Given the description of an element on the screen output the (x, y) to click on. 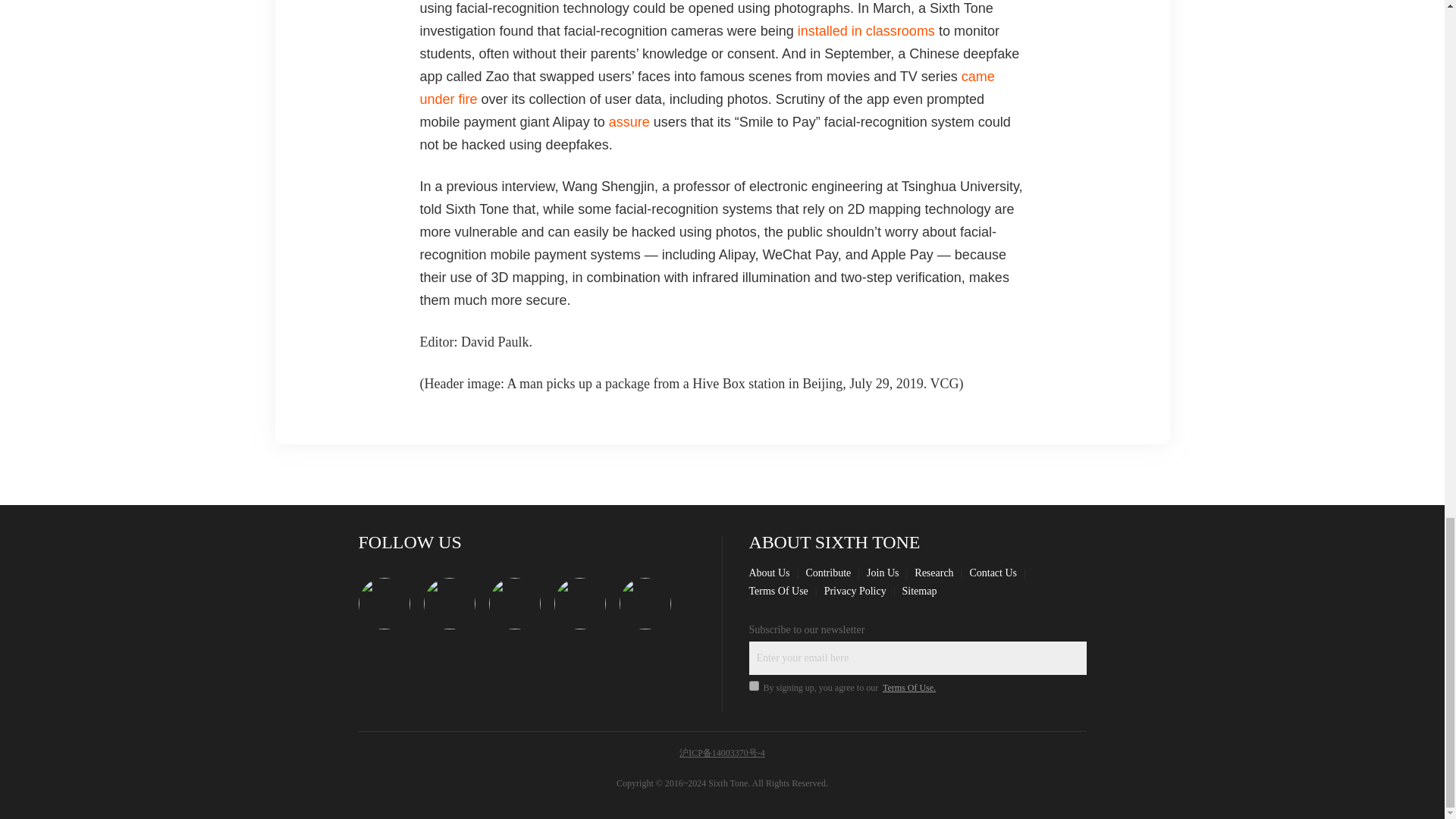
Terms Of Use (778, 591)
About Us (769, 572)
came under fire (707, 87)
Privacy Policy (855, 591)
Join Us (882, 572)
Contact Us (992, 572)
on (753, 685)
assure (628, 121)
Research (933, 572)
installed in classrooms (865, 30)
Sitemap (919, 591)
Terms Of Use. (909, 687)
Contribute (827, 572)
